Given the description of an element on the screen output the (x, y) to click on. 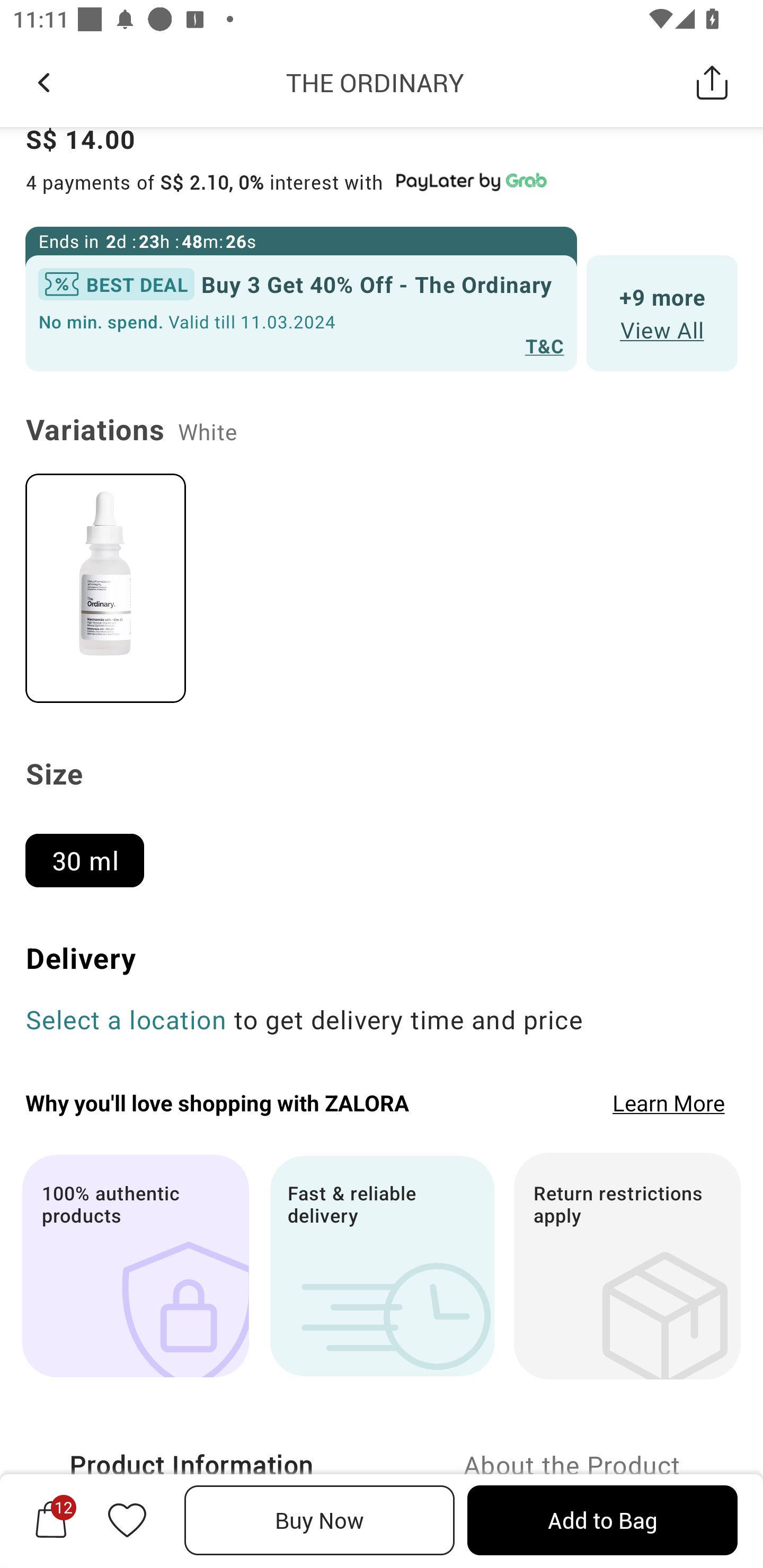
THE ORDINARY (375, 82)
Share this Product (711, 82)
+9 more
View All (661, 313)
T&C (544, 345)
30 ml (92, 851)
Learn More (668, 1102)
100% authentic products (135, 1265)
Fast & reliable delivery (381, 1265)
Return restrictions apply (627, 1265)
About the Product (572, 1464)
Buy Now (319, 1519)
Add to Bag (601, 1519)
12 (50, 1520)
